Given the description of an element on the screen output the (x, y) to click on. 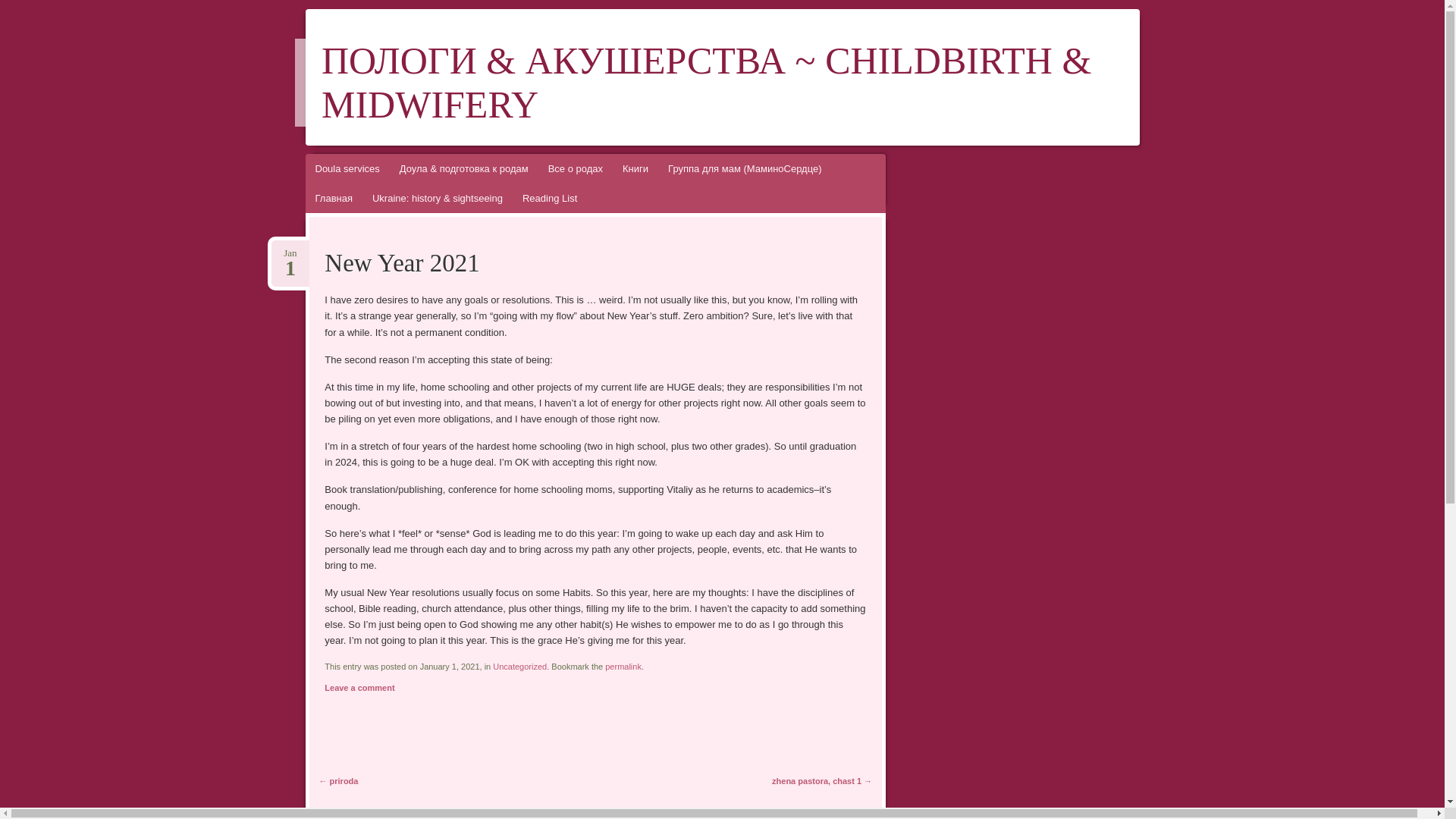
permalink (623, 665)
Leave a comment (359, 687)
Permalink to New Year 2021 (623, 665)
Uncategorized (520, 665)
Doula services (346, 168)
January 1, 2021 (289, 253)
Reading List (549, 197)
